Given the description of an element on the screen output the (x, y) to click on. 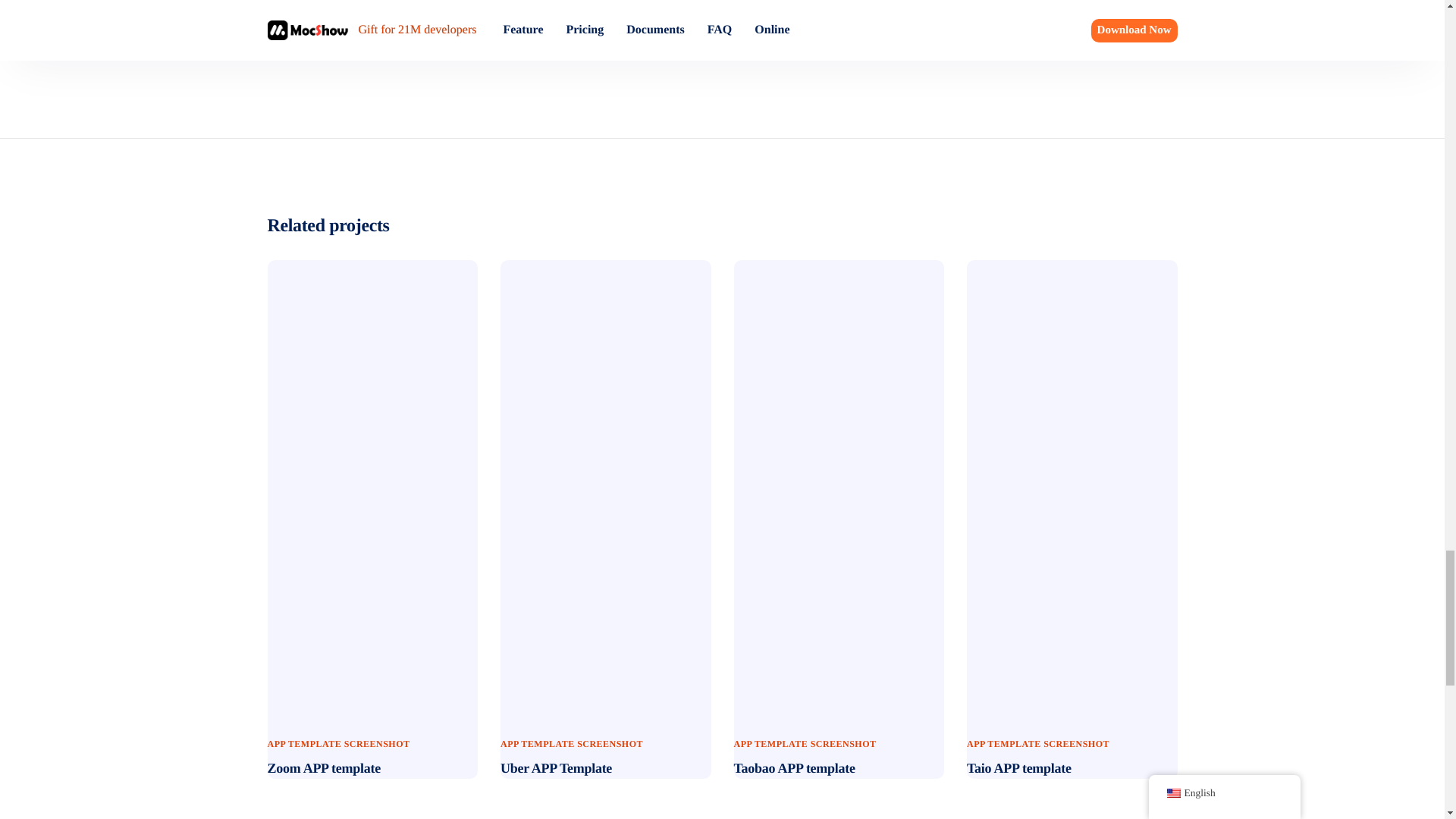
Taobao APP template (838, 487)
APP TEMPLATE SCREENSHOT (804, 743)
Zoom APP template (371, 487)
APP TEMPLATE SCREENSHOT (571, 743)
Taio APP template (1071, 487)
Taio APP template (1018, 767)
Zoom APP template (323, 767)
APP TEMPLATE SCREENSHOT (1037, 743)
Taio APP template (1018, 767)
Uber APP Template (605, 487)
APP TEMPLATE SCREENSHOT (337, 743)
Zoom APP template (323, 767)
Uber APP Template (555, 767)
Taobao APP template (794, 767)
Uber APP Template (555, 767)
